Given the description of an element on the screen output the (x, y) to click on. 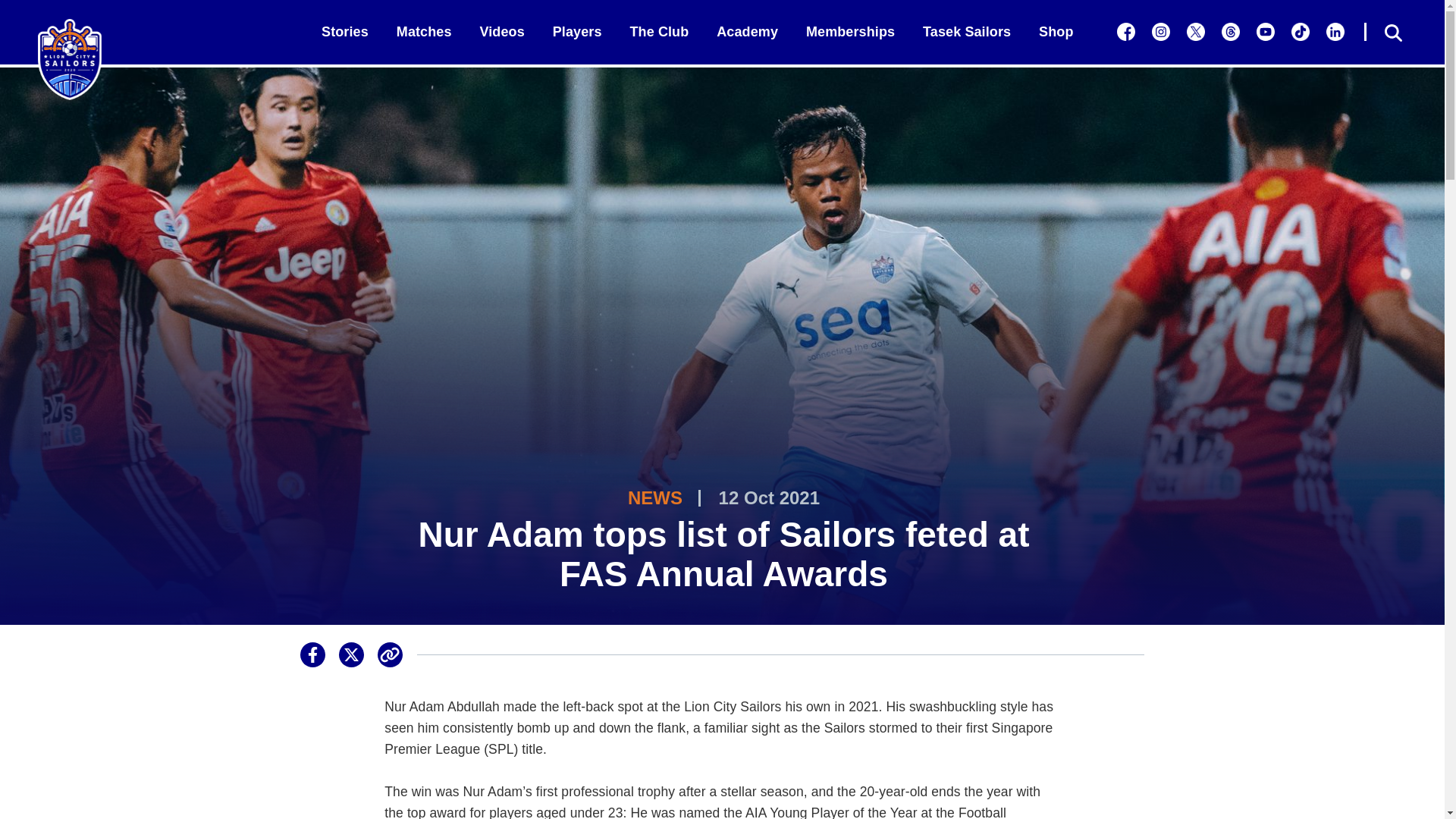
Stories (344, 31)
The Club (658, 31)
NEWS (654, 497)
Matches (423, 31)
Memberships (850, 31)
Shop (1056, 31)
Tasek Sailors (966, 31)
Players (577, 31)
Videos (501, 31)
Academy (746, 31)
